Given the description of an element on the screen output the (x, y) to click on. 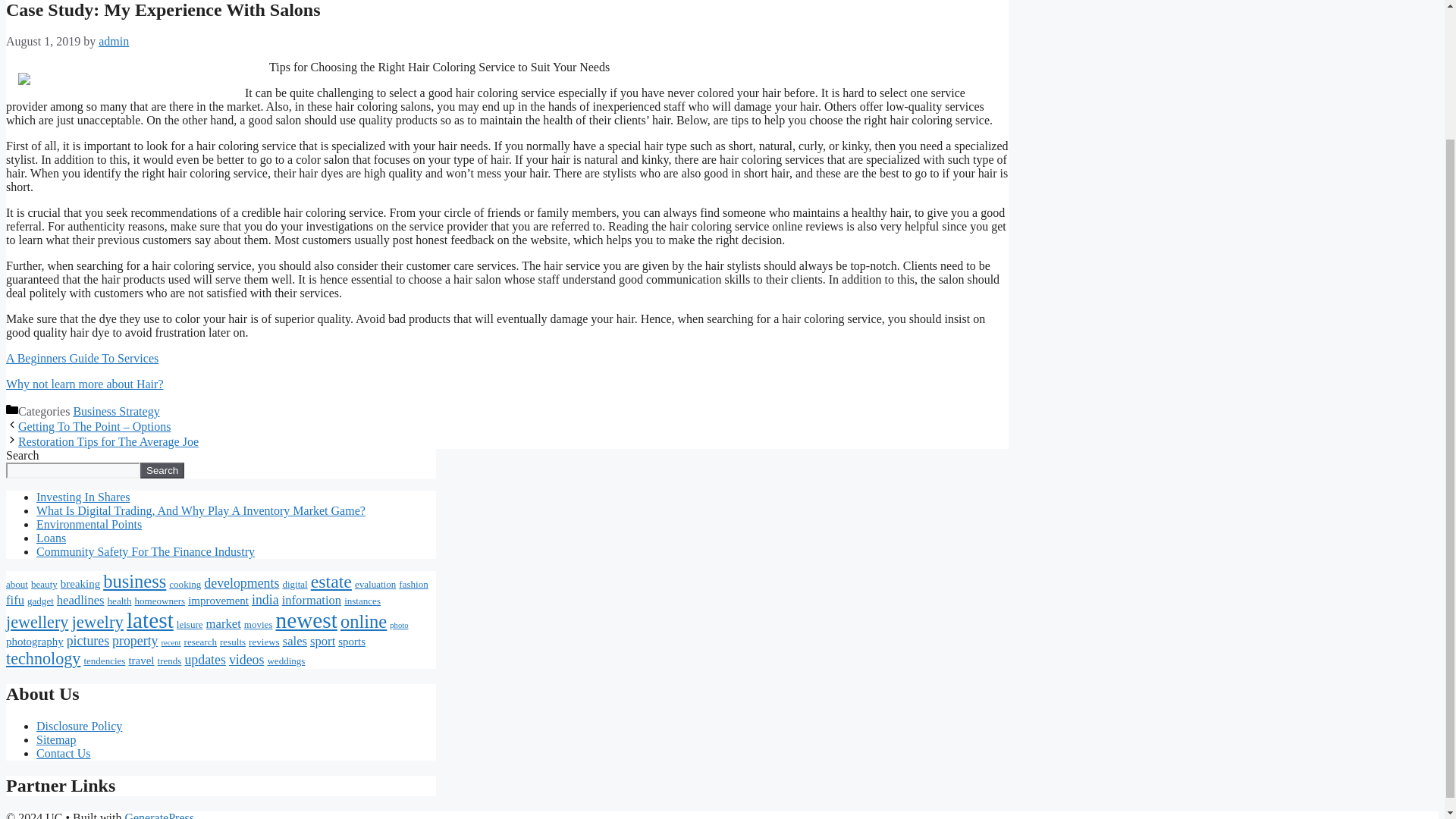
Community Safety For The Finance Industry (145, 551)
business (134, 580)
admin (114, 41)
Why not learn more about Hair? (84, 383)
beauty (44, 583)
information (312, 599)
fifu (14, 599)
View all posts by admin (114, 41)
Restoration Tips for The Average Joe (107, 440)
instances (361, 600)
